Given the description of an element on the screen output the (x, y) to click on. 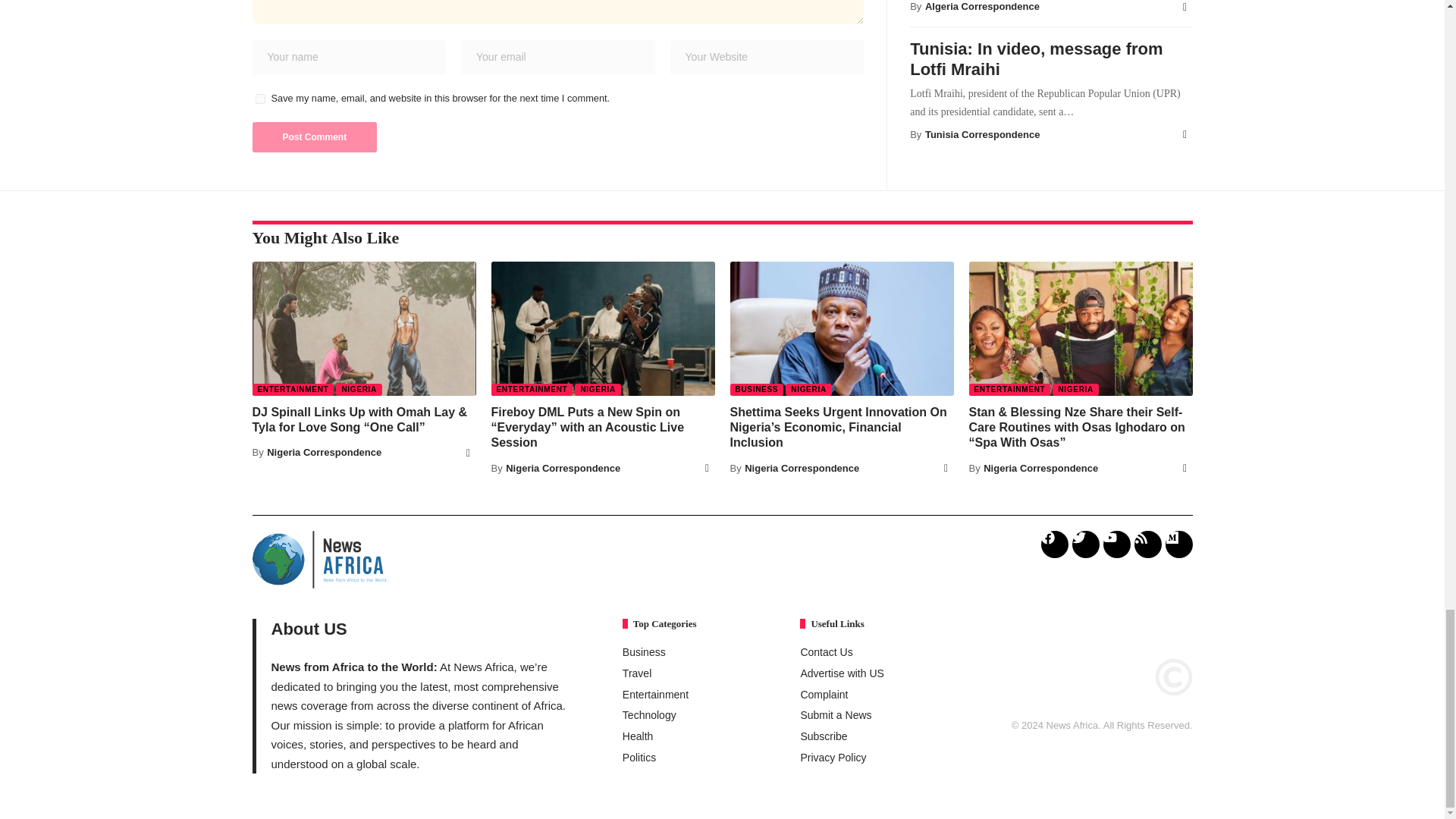
yes (259, 99)
Post Comment (314, 137)
